Given the description of an element on the screen output the (x, y) to click on. 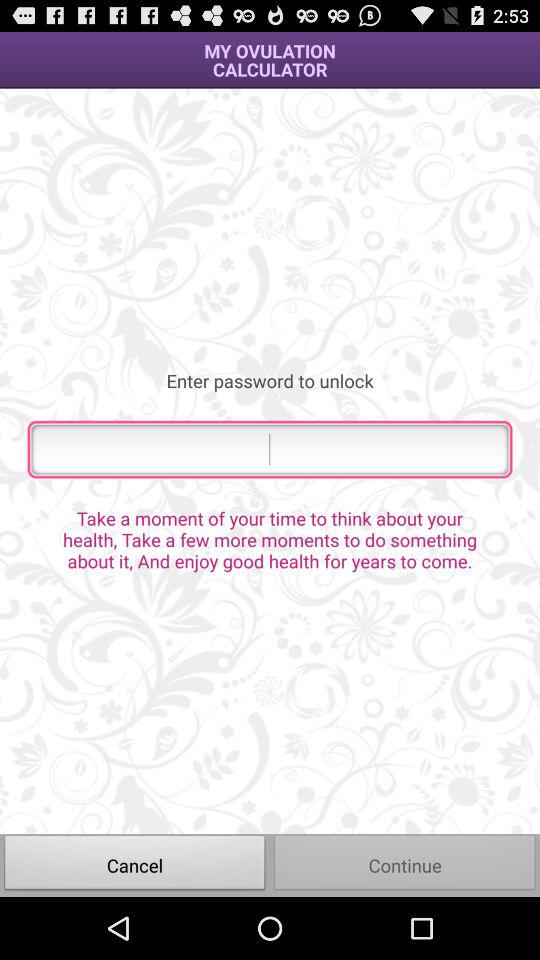
open the item at the bottom right corner (405, 864)
